Given the description of an element on the screen output the (x, y) to click on. 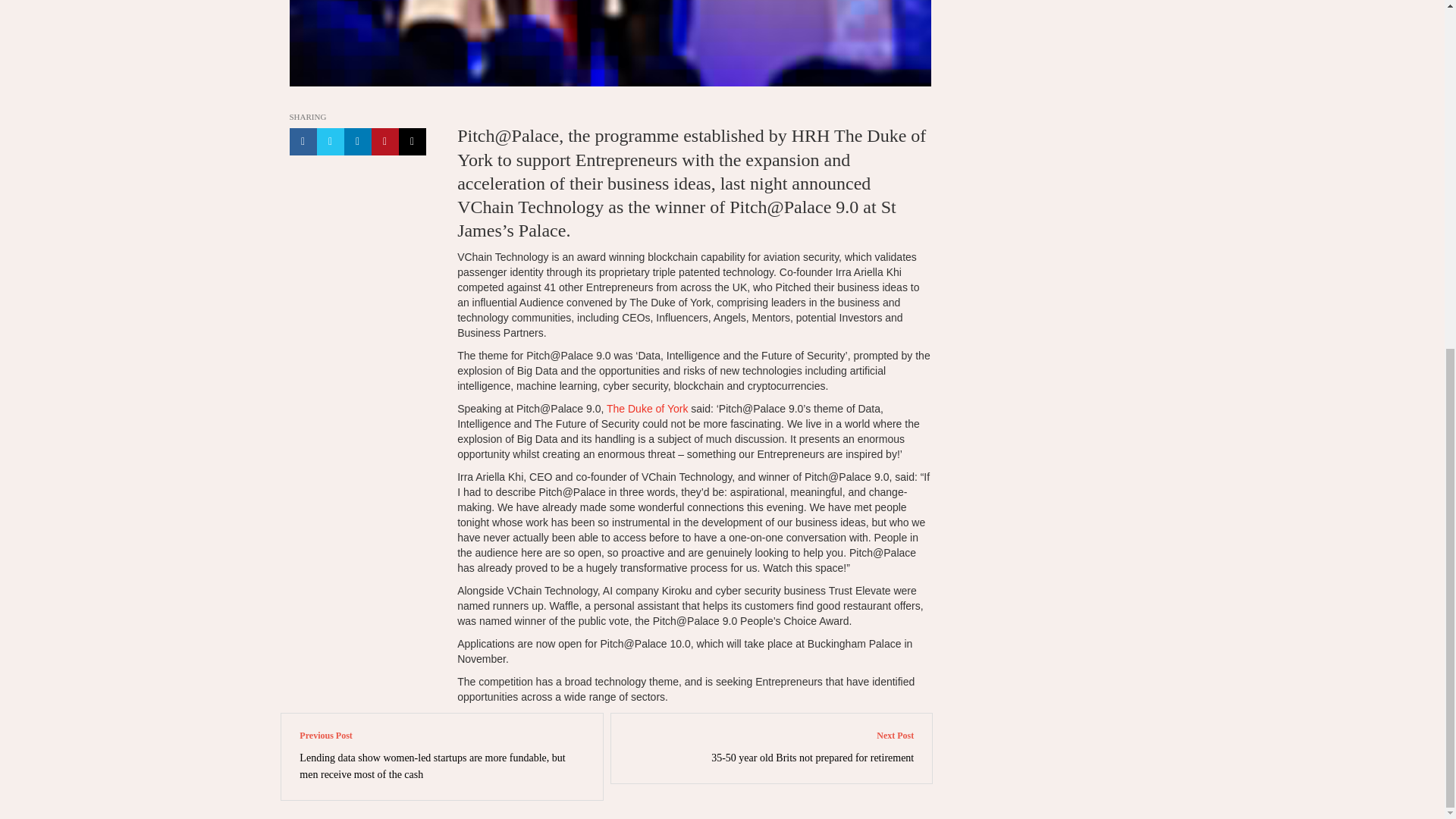
35-50 year old Brits not prepared for retirement (812, 757)
The Duke of York (647, 408)
